Given the description of an element on the screen output the (x, y) to click on. 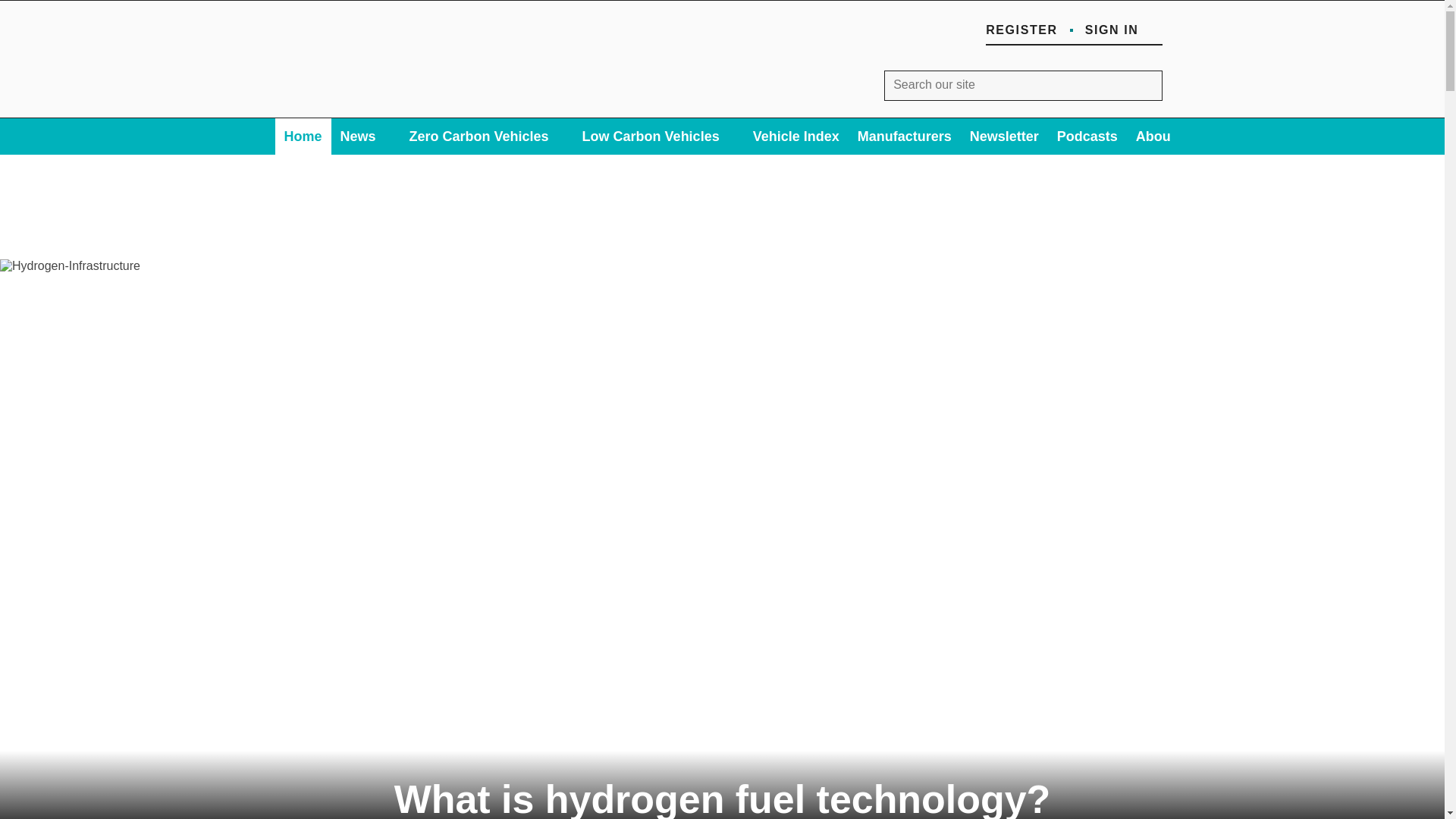
Site name (374, 102)
REGISTER (1021, 29)
Home (302, 135)
SIGN IN (1122, 29)
News (365, 135)
SEARCH (1146, 85)
